Given the description of an element on the screen output the (x, y) to click on. 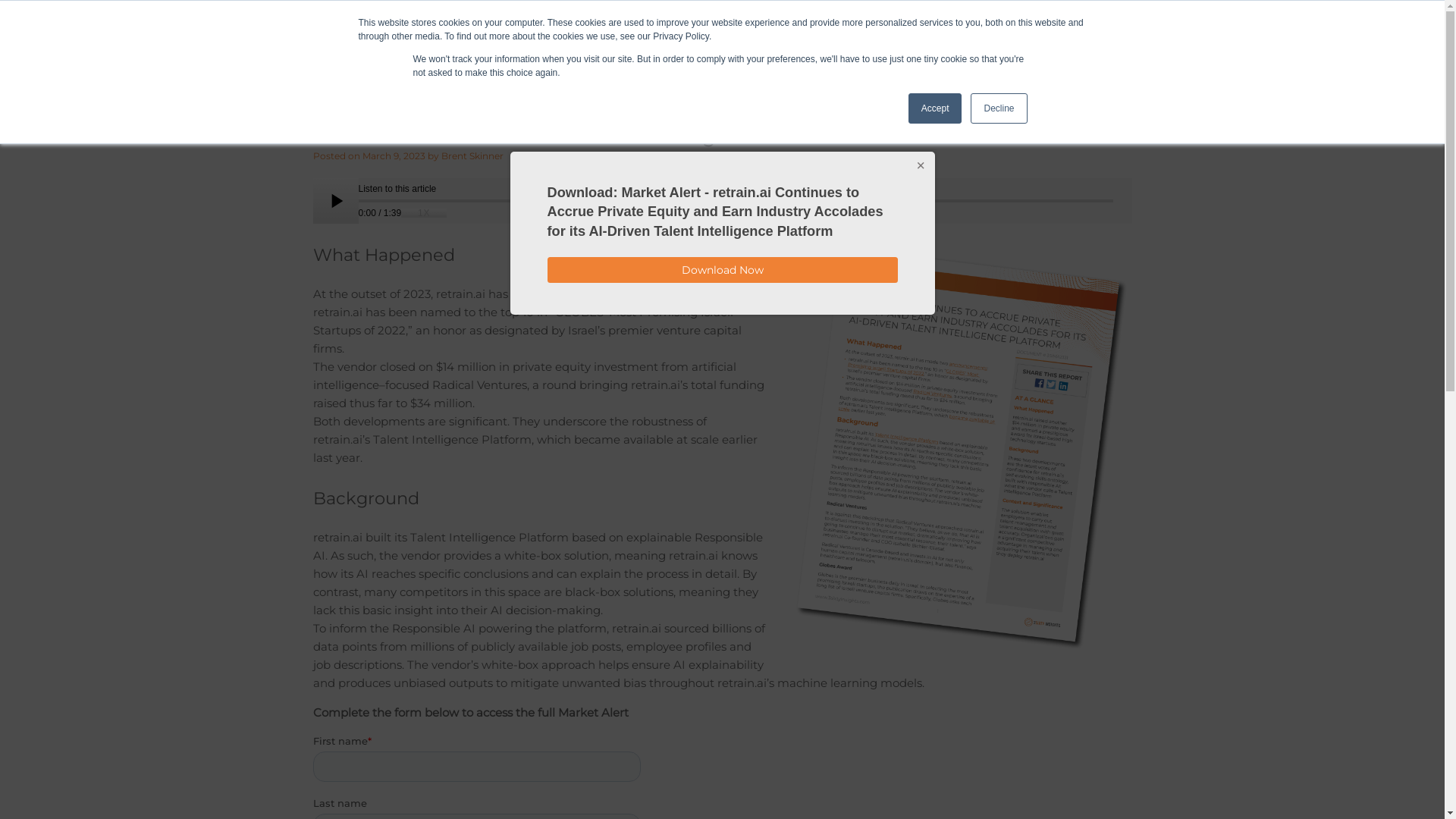
Tell Us Your Story Element type: text (1033, 53)
Research Element type: text (627, 53)
Contact Us Element type: text (943, 53)
About Us Element type: text (872, 53)
1X Element type: text (423, 212)
pause Element type: hover (334, 200)
Blog Element type: text (684, 53)
Accept Element type: text (935, 108)
Download Now Element type: text (722, 269)
Decline Element type: text (998, 108)
March 9, 2023 Element type: text (393, 155)
3Sixty Insights, Inc. Element type: hover (407, 18)
Brent Skinner Element type: text (472, 155)
Home Element type: text (565, 53)
Products and Services Element type: text (771, 53)
